Given the description of an element on the screen output the (x, y) to click on. 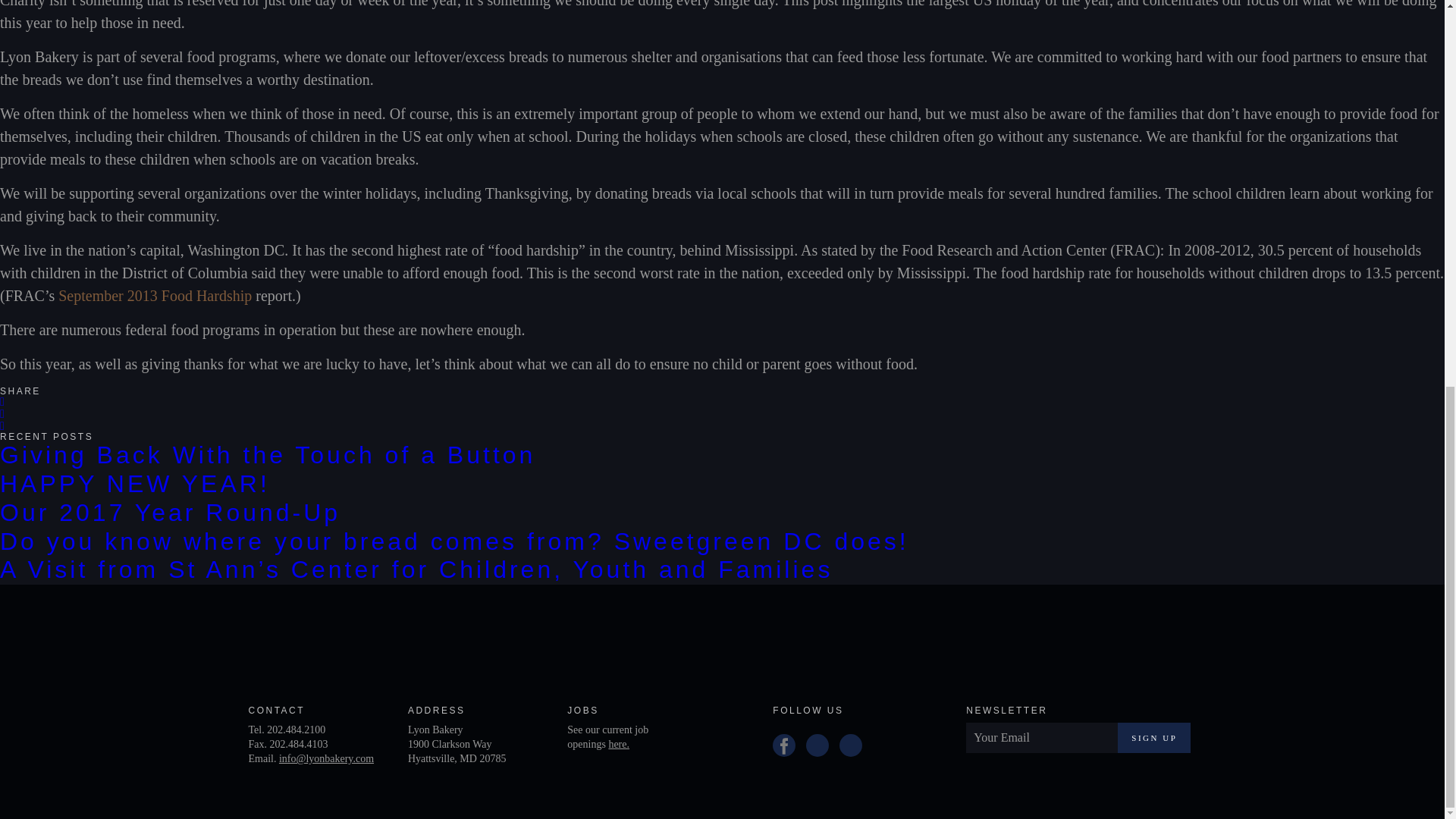
HAPPY NEW YEAR! (134, 483)
Do you know where your bread comes from? Sweetgreen DC does! (454, 541)
Our 2017 Year Round-Up (170, 512)
Do you know where your bread comes from? Sweetgreen DC does! (454, 541)
HAPPY NEW YEAR! (134, 483)
here. (618, 744)
Giving Back With the Touch of a Button (267, 454)
Giving Back With the Touch of a Button (267, 454)
Our 2017 Year Round-Up (170, 512)
SIGN UP (1154, 737)
